Given the description of an element on the screen output the (x, y) to click on. 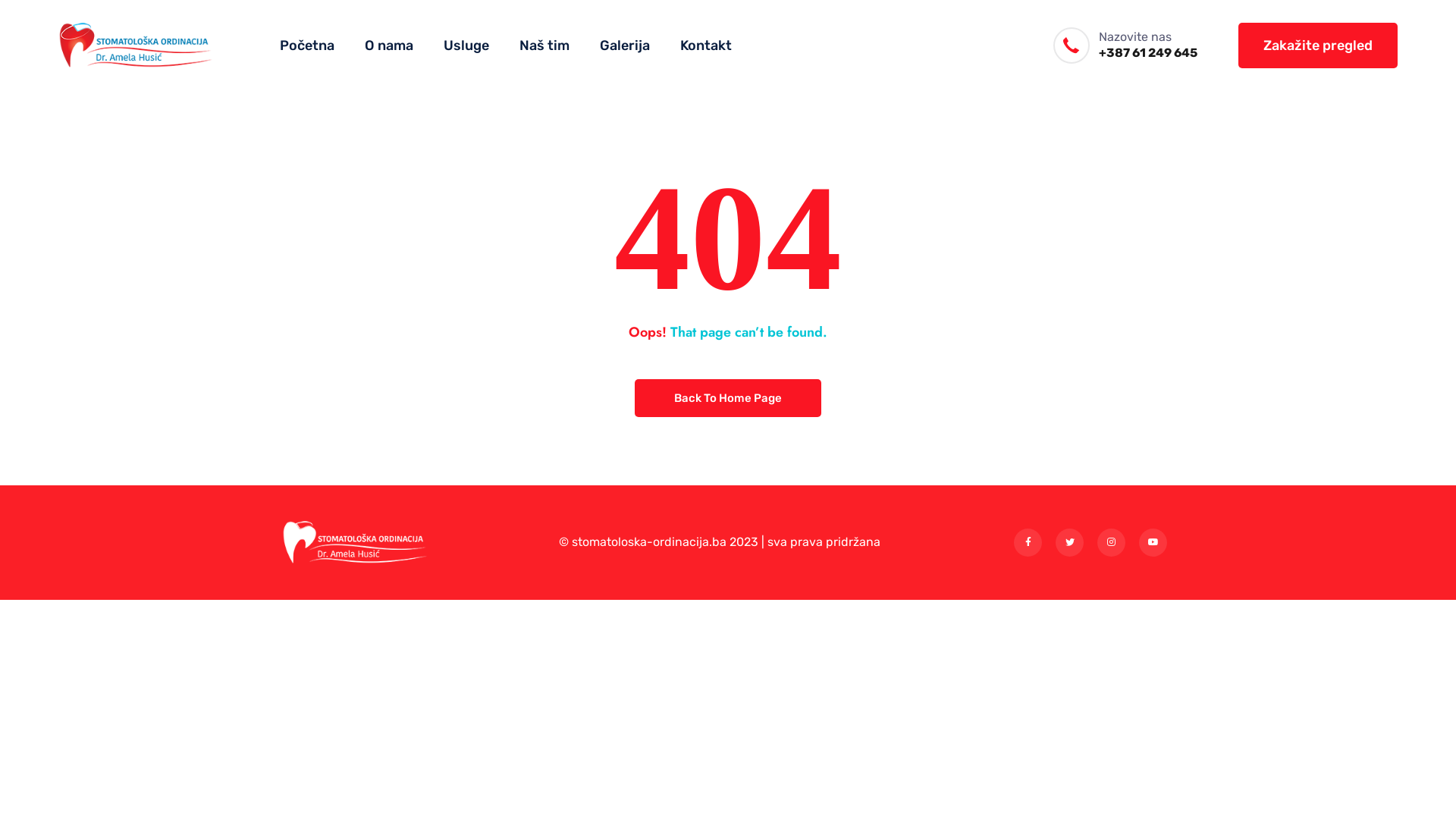
Back To Home Page Element type: text (727, 398)
facebook-f Element type: hover (1027, 542)
twitter Element type: hover (1069, 542)
Galerija Element type: text (624, 45)
Usluge Element type: text (466, 45)
Kontakt Element type: text (705, 45)
+387 61 249 645 Element type: text (1147, 53)
O nama Element type: text (388, 45)
instagram Element type: hover (1111, 542)
youtube Element type: hover (1153, 542)
